Given the description of an element on the screen output the (x, y) to click on. 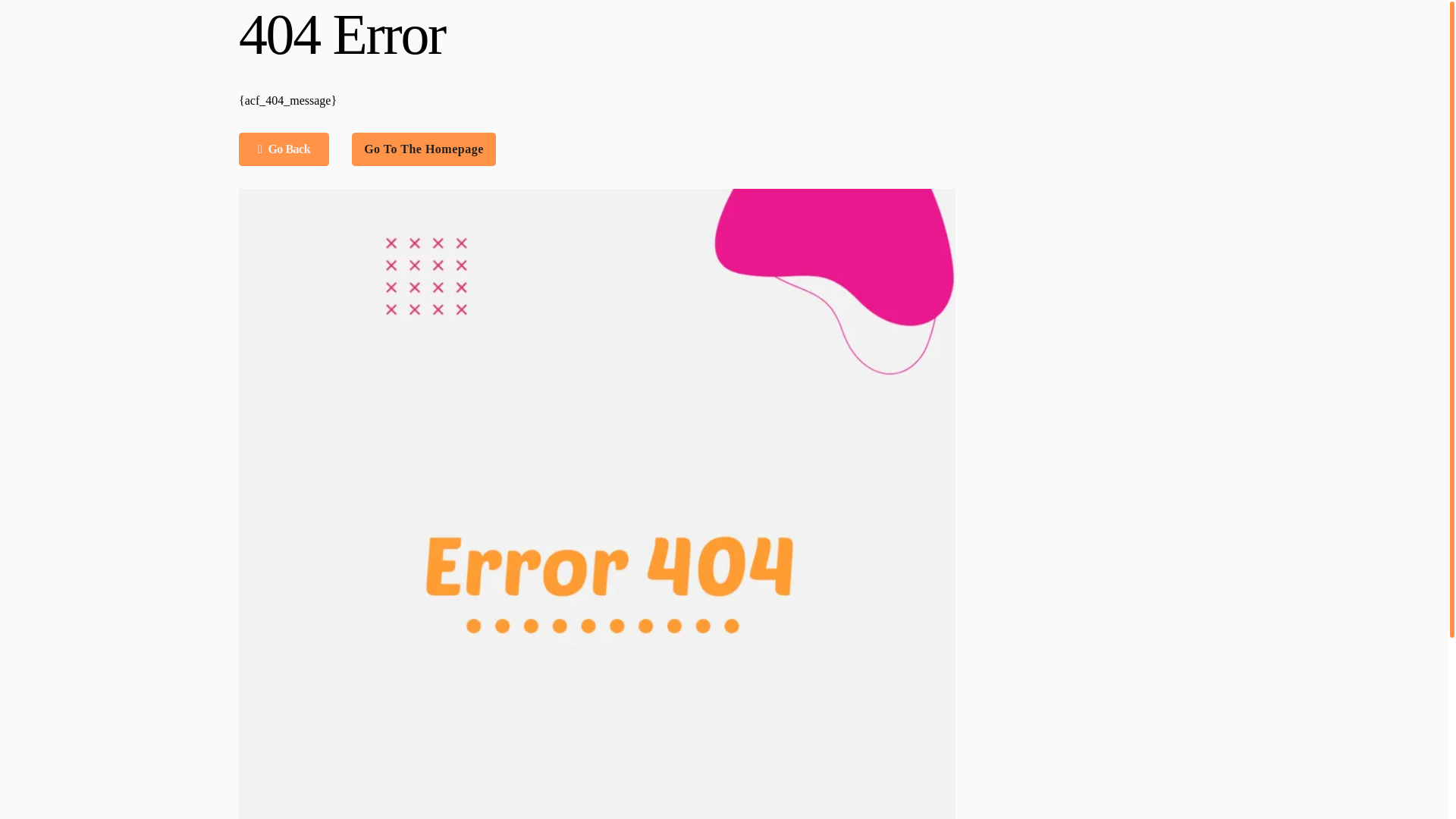
Go To The Homepage (424, 149)
